Given the description of an element on the screen output the (x, y) to click on. 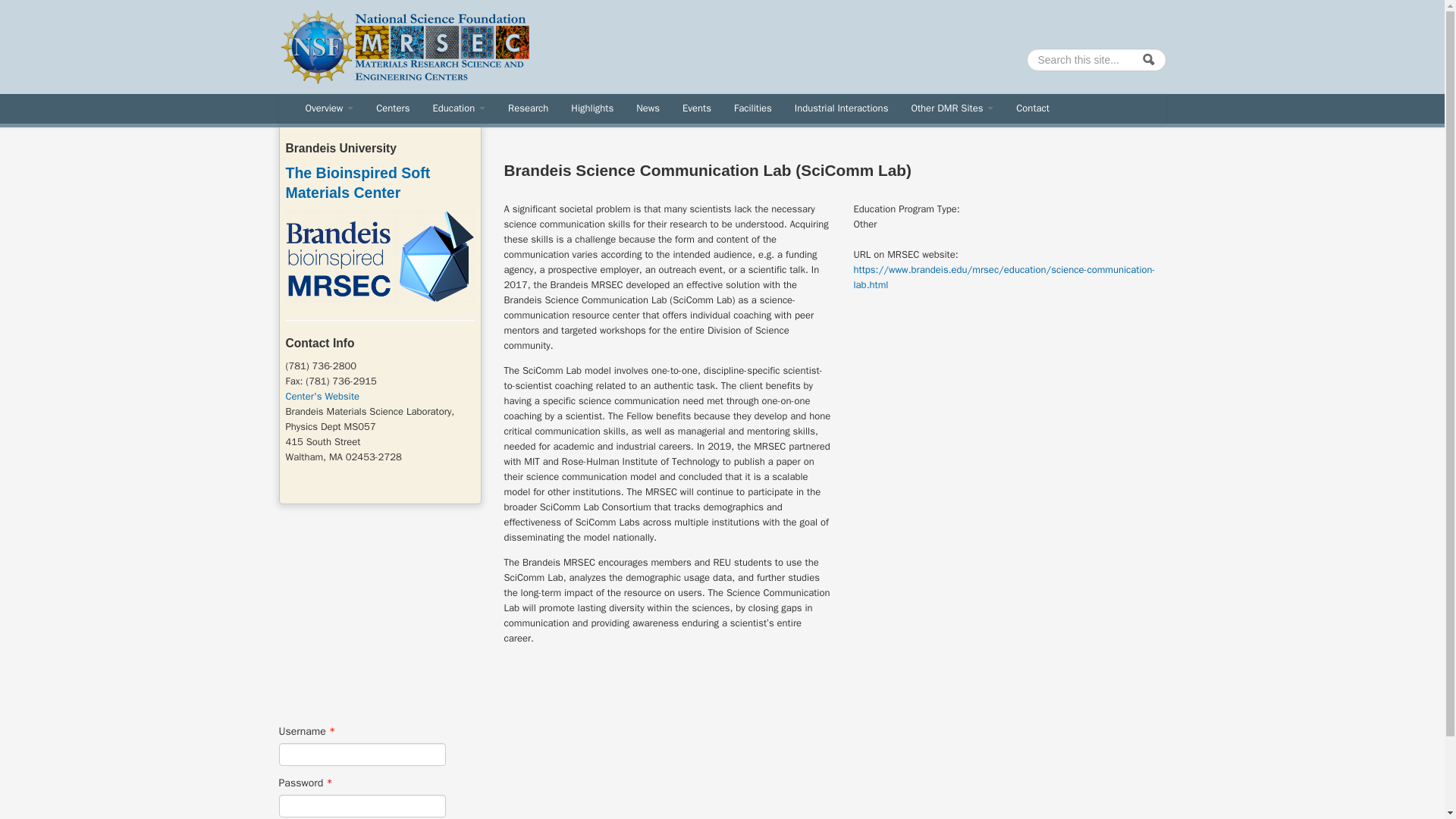
Home (405, 45)
Highlights (591, 108)
Other DMR Sites (951, 108)
Research (527, 108)
Events (696, 108)
MRSEC (566, 49)
Center's Website (322, 395)
Overview (329, 108)
Contact (1032, 108)
Enter the terms you wish to search for. (1096, 59)
Centers (392, 108)
Skip to content (32, 0)
Facilities (752, 108)
The Bioinspired Soft Materials Center (357, 181)
